Given the description of an element on the screen output the (x, y) to click on. 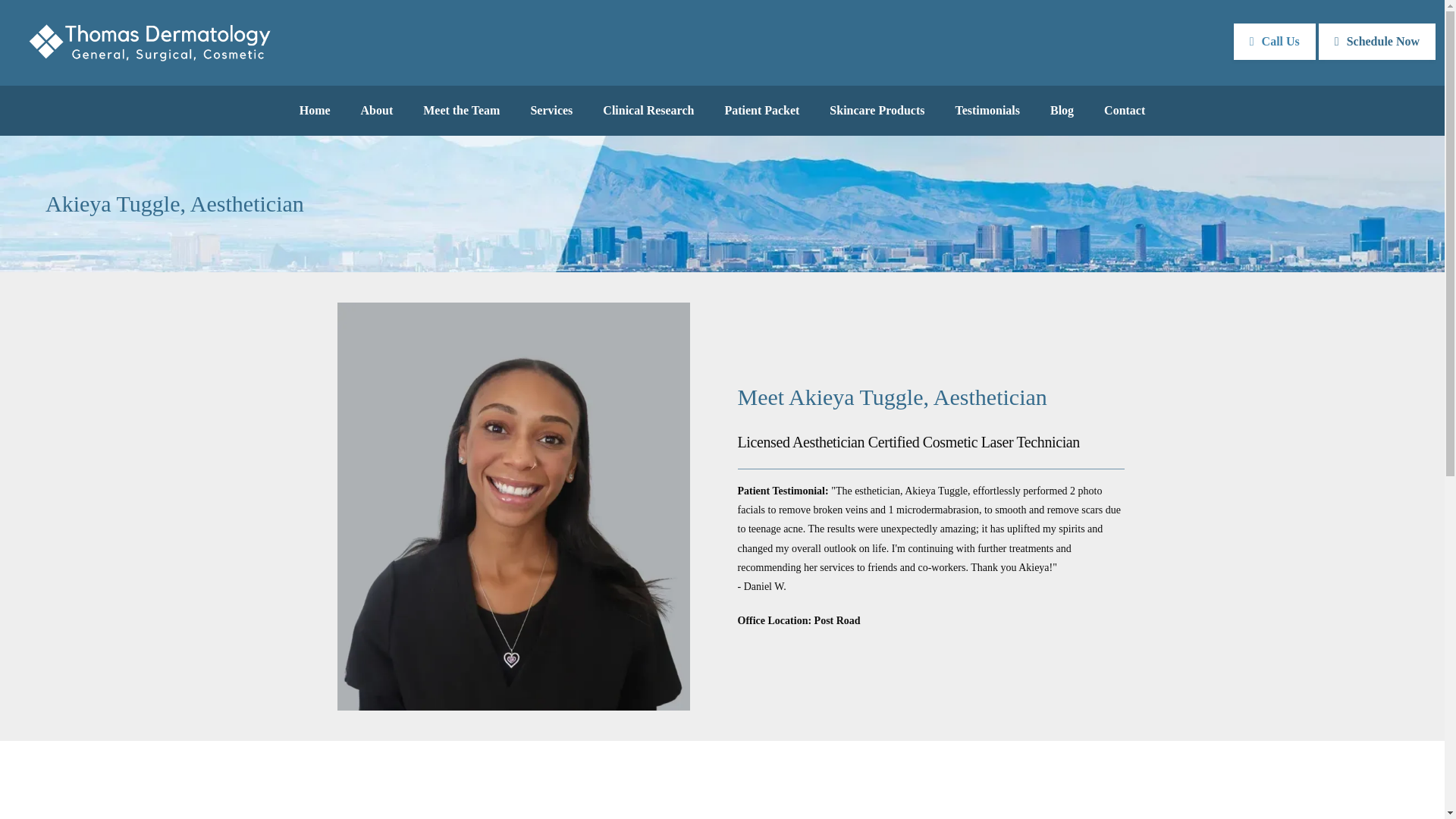
Services (550, 110)
About (377, 110)
Home (314, 110)
Meet the Team (461, 110)
